Given the description of an element on the screen output the (x, y) to click on. 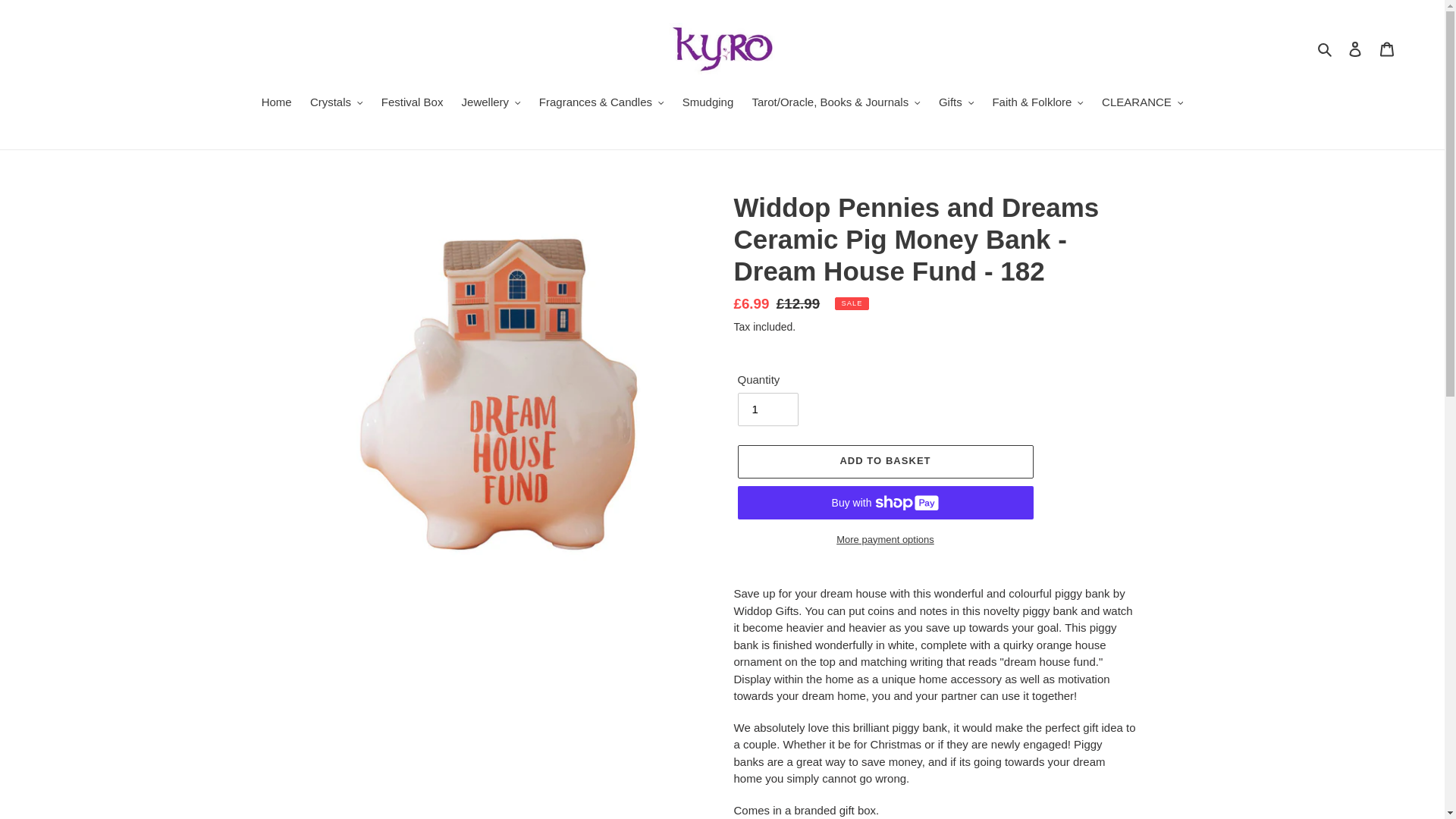
Search (1326, 48)
Basket (1387, 48)
1 (766, 409)
Log in (1355, 48)
